Given the description of an element on the screen output the (x, y) to click on. 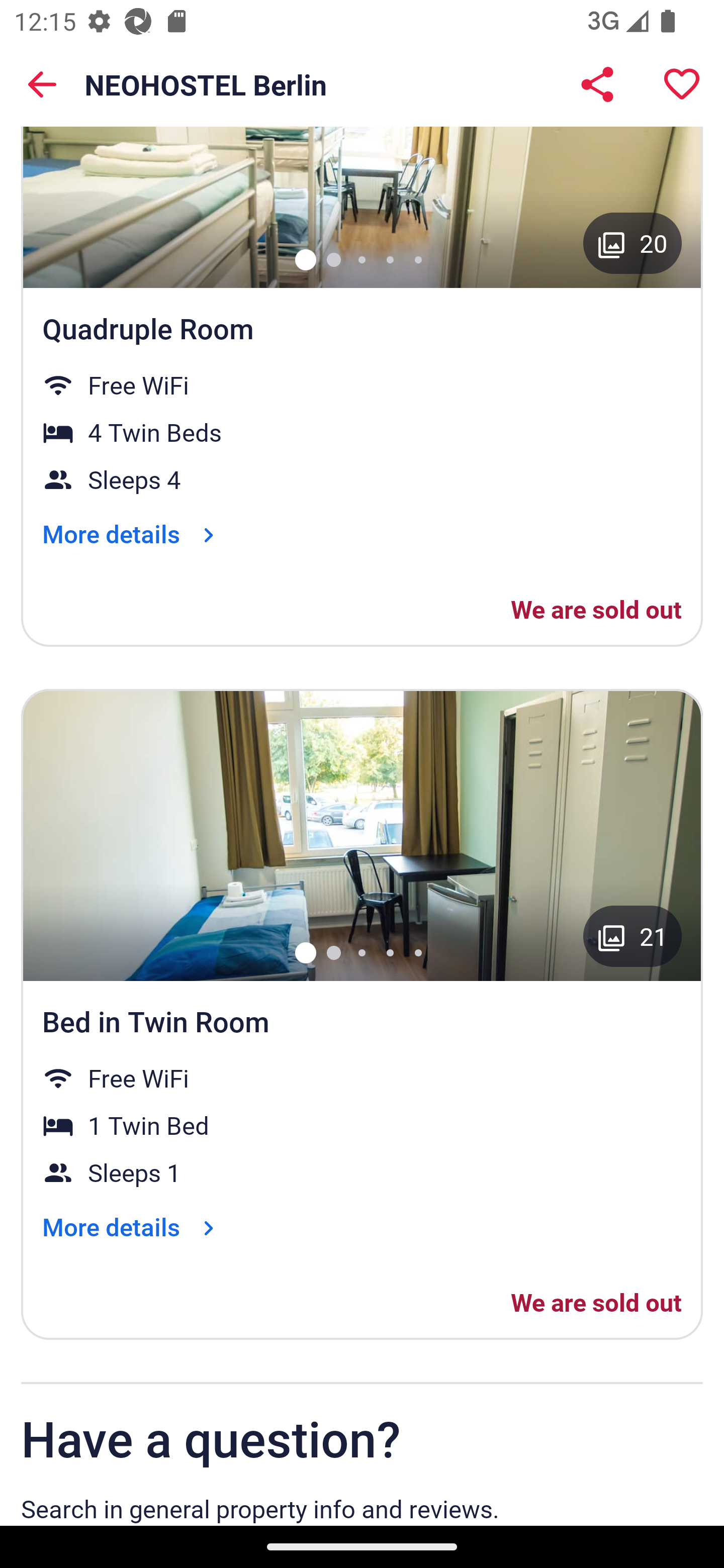
Back (42, 84)
Save property to a trip (681, 84)
Share NEOHOSTEL Berlin (597, 84)
Gallery button with 20 images (632, 242)
Free WiFi, bed sheets (361, 834)
Gallery button with 21 images (632, 935)
